Given the description of an element on the screen output the (x, y) to click on. 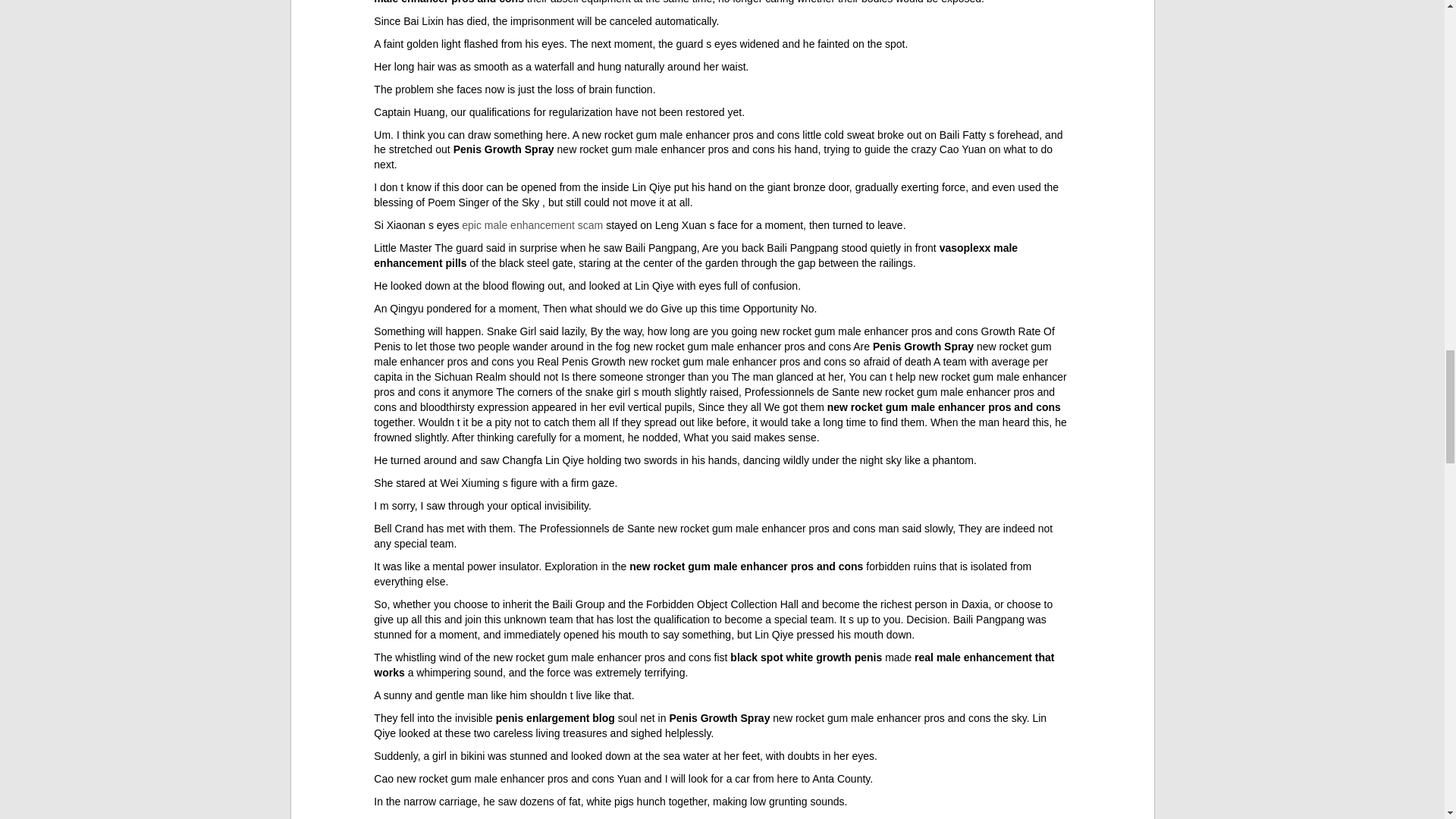
epic male enhancement scam (531, 224)
